Given the description of an element on the screen output the (x, y) to click on. 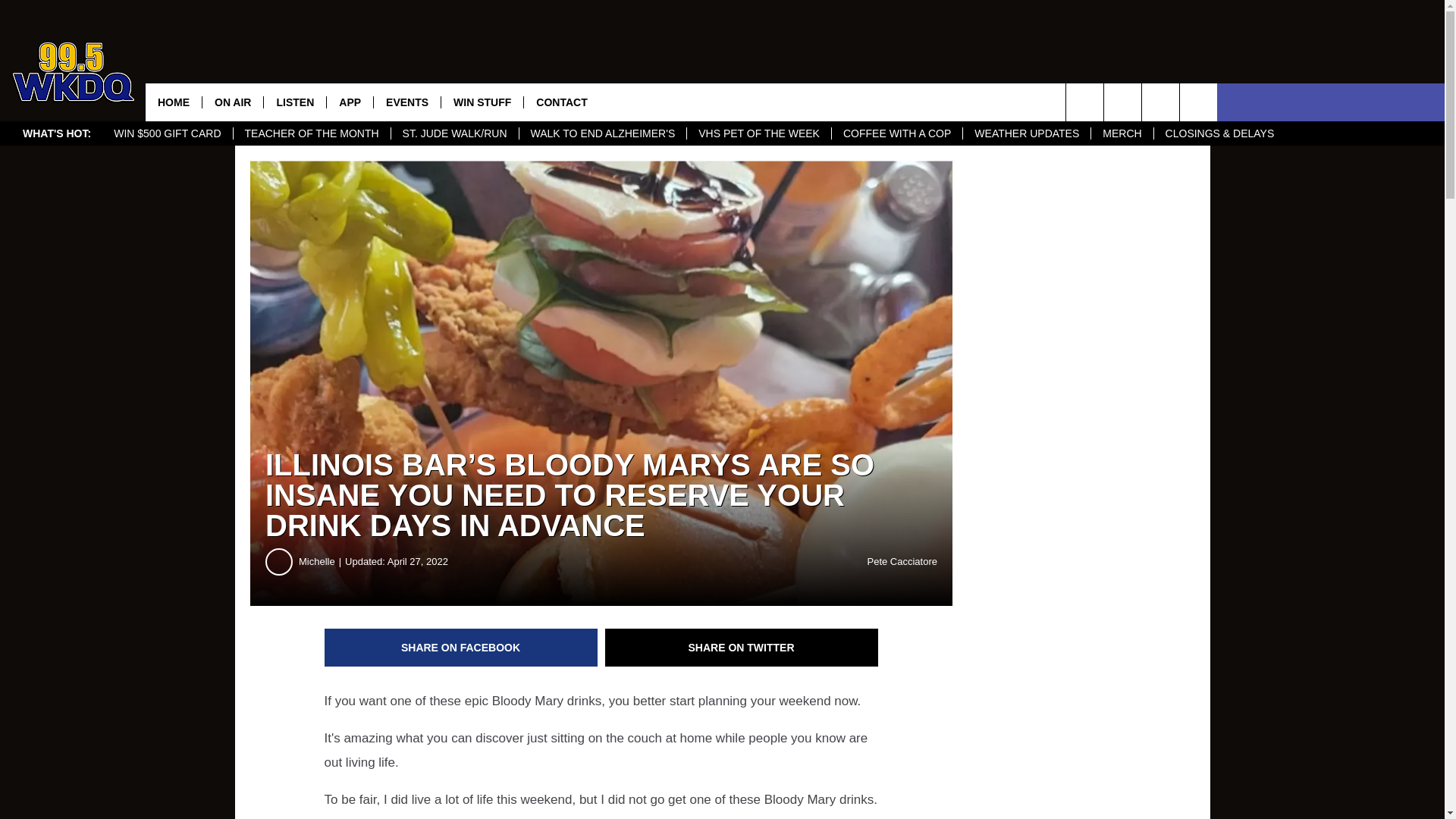
WHAT'S HOT: (56, 133)
HOME (173, 102)
EVENTS (406, 102)
TEACHER OF THE MONTH (310, 133)
WEATHER UPDATES (1026, 133)
MERCH (1121, 133)
APP (349, 102)
VHS PET OF THE WEEK (758, 133)
COFFEE WITH A COP (896, 133)
ON AIR (232, 102)
